Given the description of an element on the screen output the (x, y) to click on. 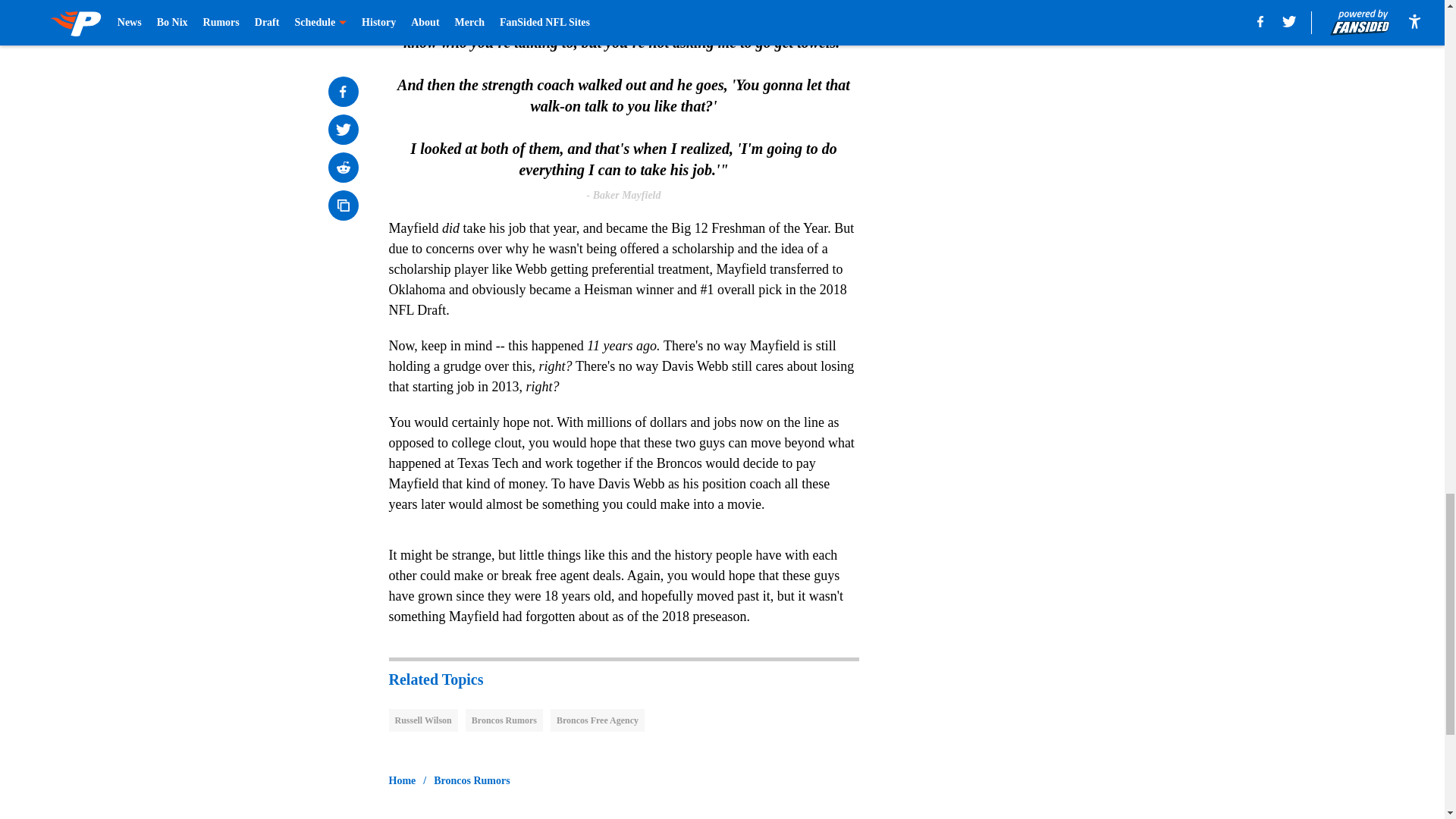
Broncos Free Agency (597, 720)
Home (401, 780)
Russell Wilson (422, 720)
Broncos Rumors (504, 720)
Broncos Rumors (471, 780)
